Given the description of an element on the screen output the (x, y) to click on. 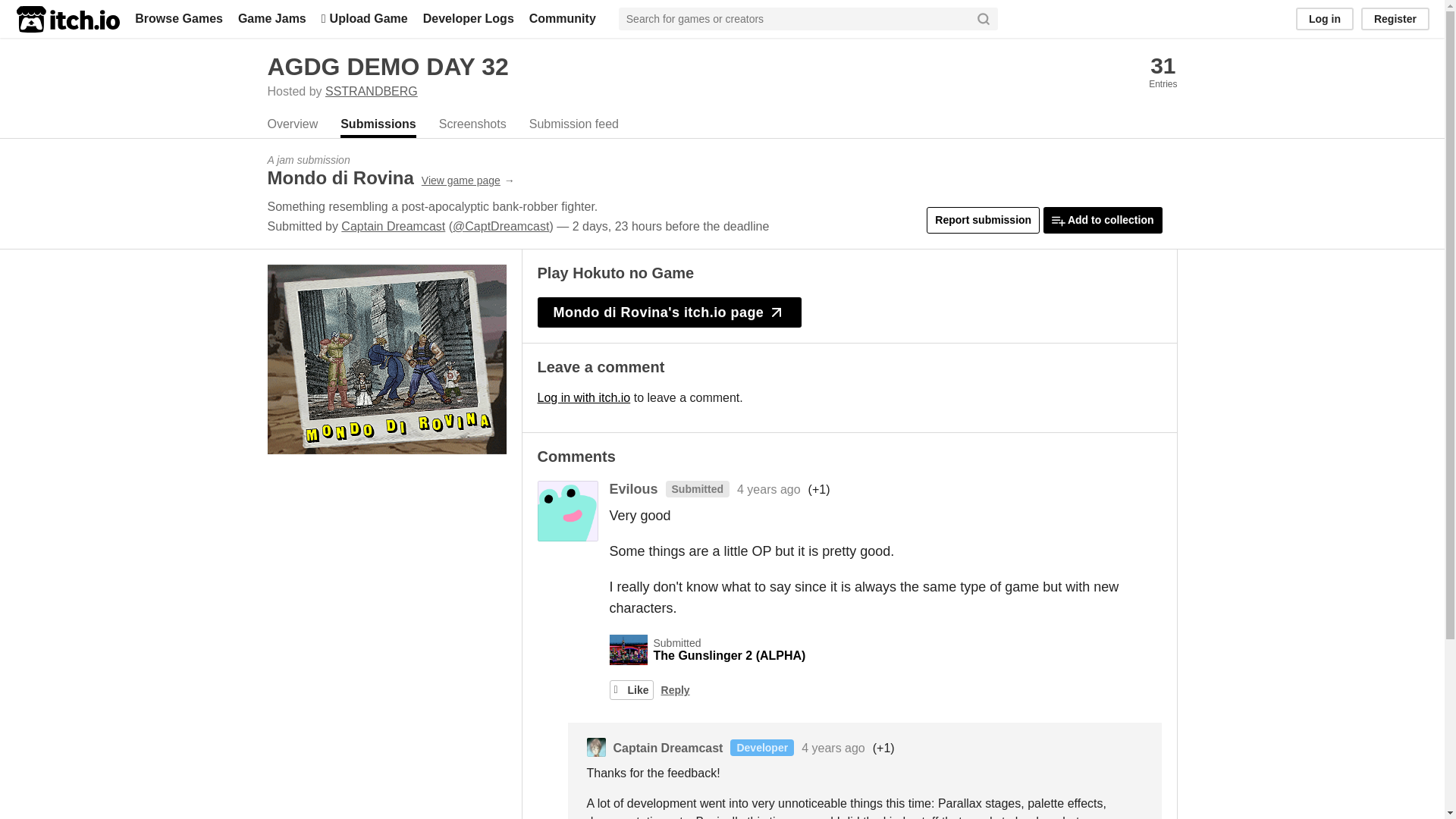
Game Jams (271, 18)
Evilous (634, 488)
Submission feed (573, 125)
itch.io - indie game hosting marketplace (67, 18)
View game page (468, 180)
Overview (291, 125)
Add to collection (1102, 220)
2020-05-01 13:48:10 (768, 489)
SSTRANDBERG (370, 91)
AGDG DEMO DAY 32 (387, 66)
Submitted (693, 489)
2020-05-02 00:41:42 (833, 748)
Log in with itch.io (583, 397)
4 years ago (768, 489)
Report submission (982, 220)
